Given the description of an element on the screen output the (x, y) to click on. 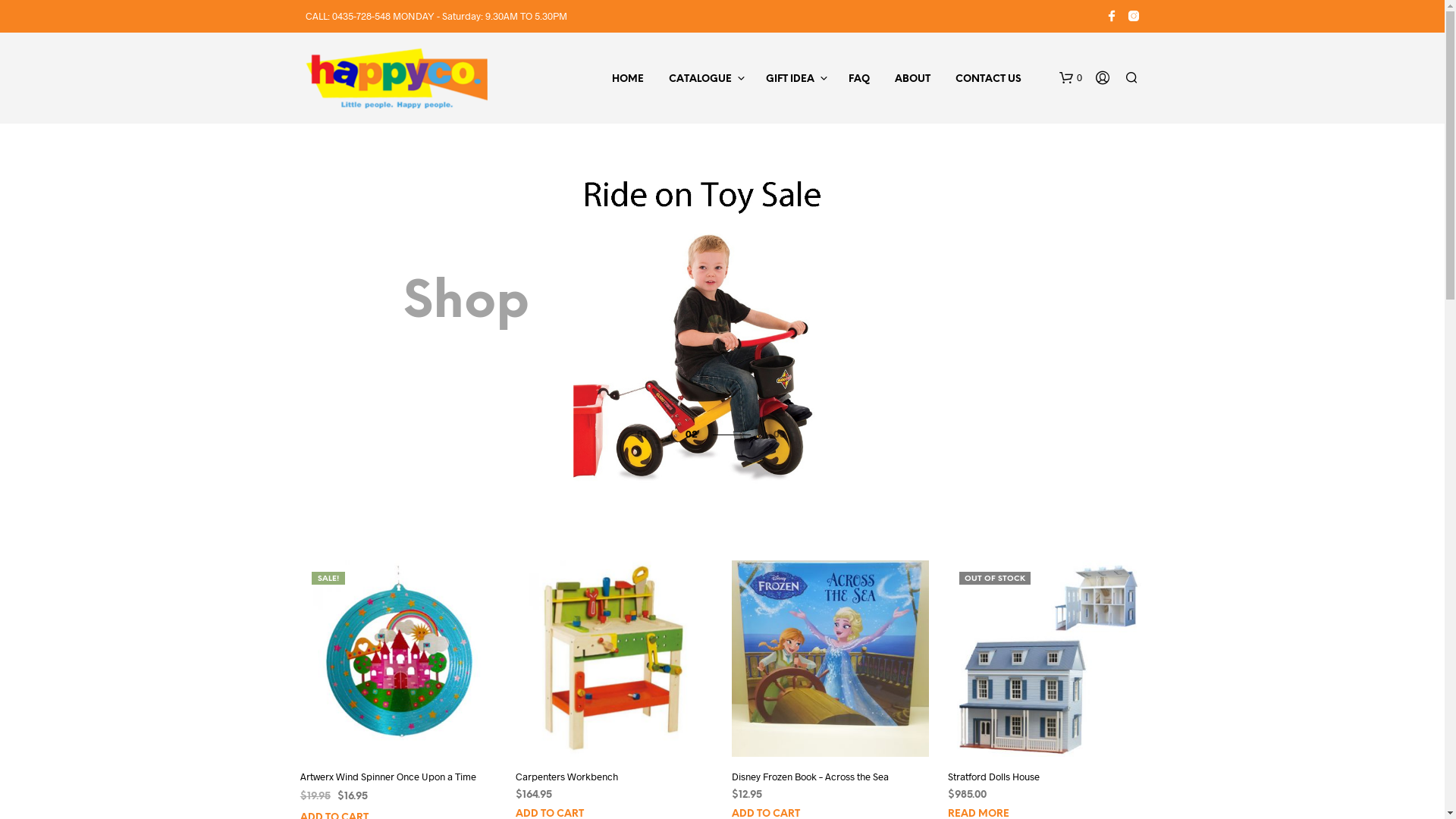
Carpenters Workbench Element type: text (566, 776)
0 Element type: text (1069, 77)
Stratford Dolls House Element type: text (993, 776)
Artwerx Wind Spinner Once Upon a Time Element type: text (388, 776)
CONTACT US Element type: text (987, 79)
GIFT IDEA Element type: text (789, 79)
HOME Element type: text (627, 79)
CATALOGUE Element type: text (699, 79)
FAQ Element type: text (859, 79)
ABOUT Element type: text (911, 79)
